Given the description of an element on the screen output the (x, y) to click on. 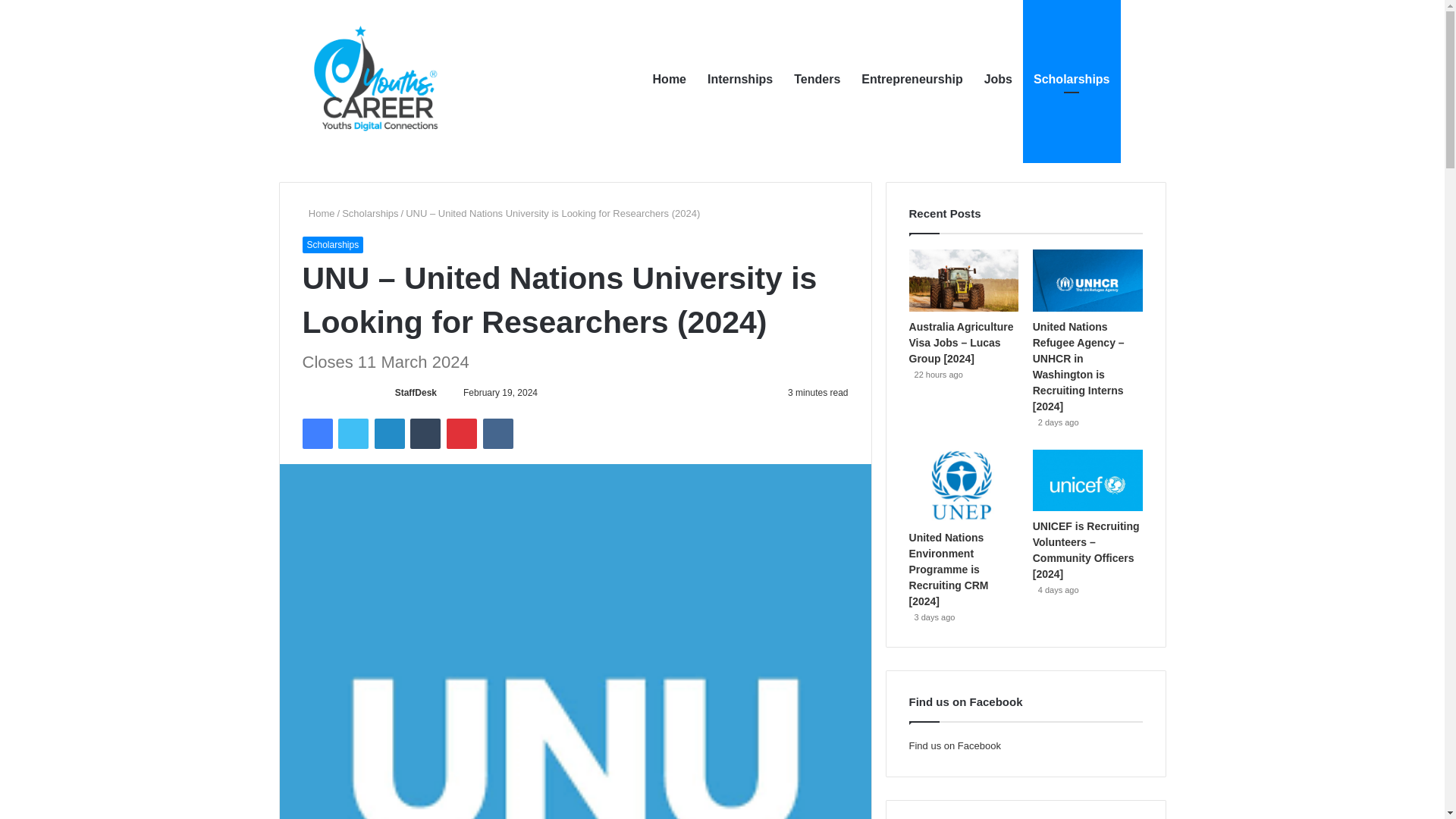
StaffDesk (415, 392)
LinkedIn (389, 433)
Pinterest (461, 433)
Youths Career (381, 79)
Twitter (352, 433)
Twitter (352, 433)
Scholarships (331, 244)
Scholarships (369, 213)
Pinterest (461, 433)
StaffDesk (415, 392)
